Given the description of an element on the screen output the (x, y) to click on. 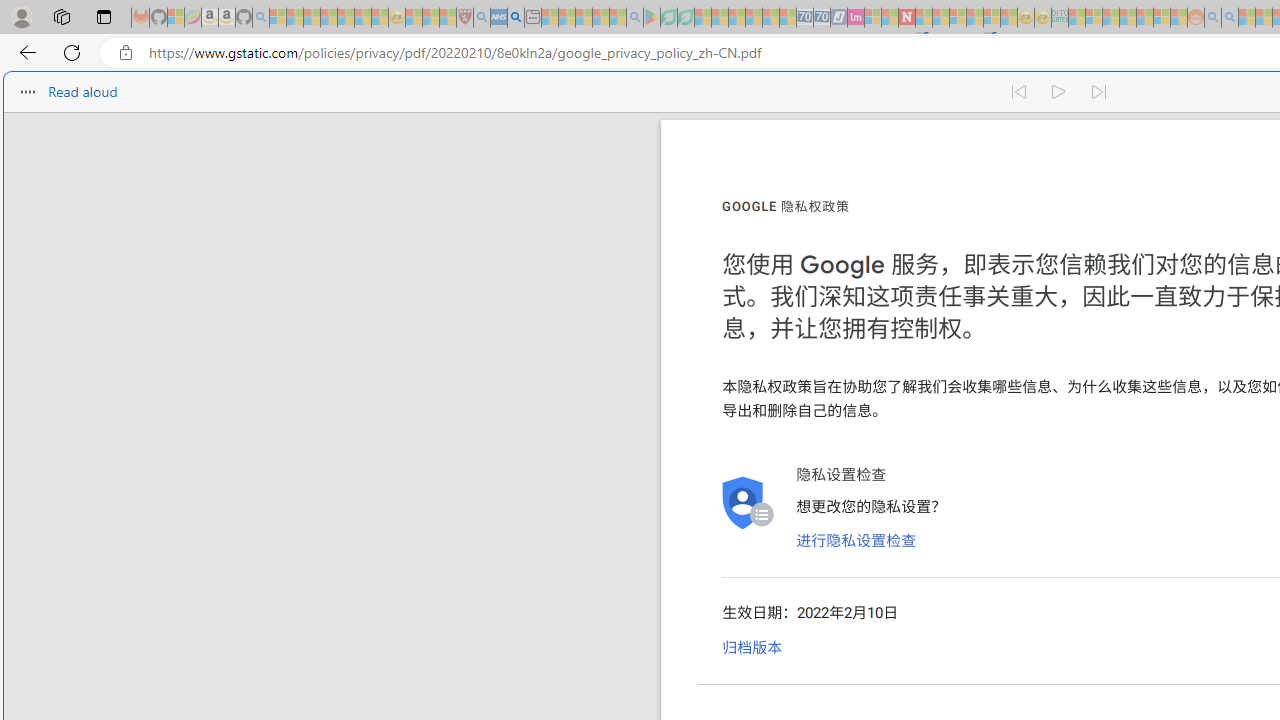
Continue to read aloud (Ctrl+Shift+U) (1059, 92)
